Given the description of an element on the screen output the (x, y) to click on. 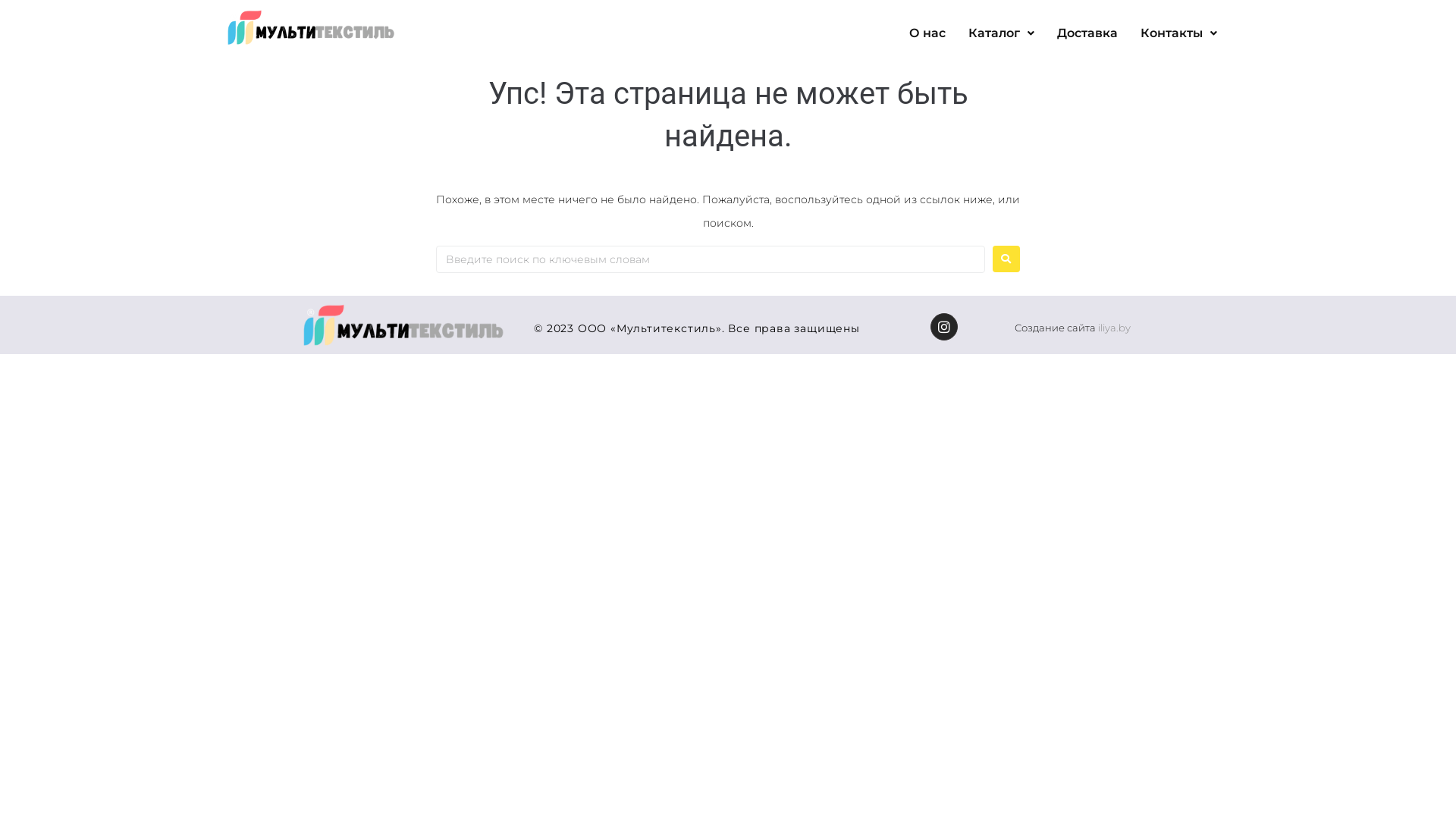
iliya.by Element type: text (1114, 327)
